Given the description of an element on the screen output the (x, y) to click on. 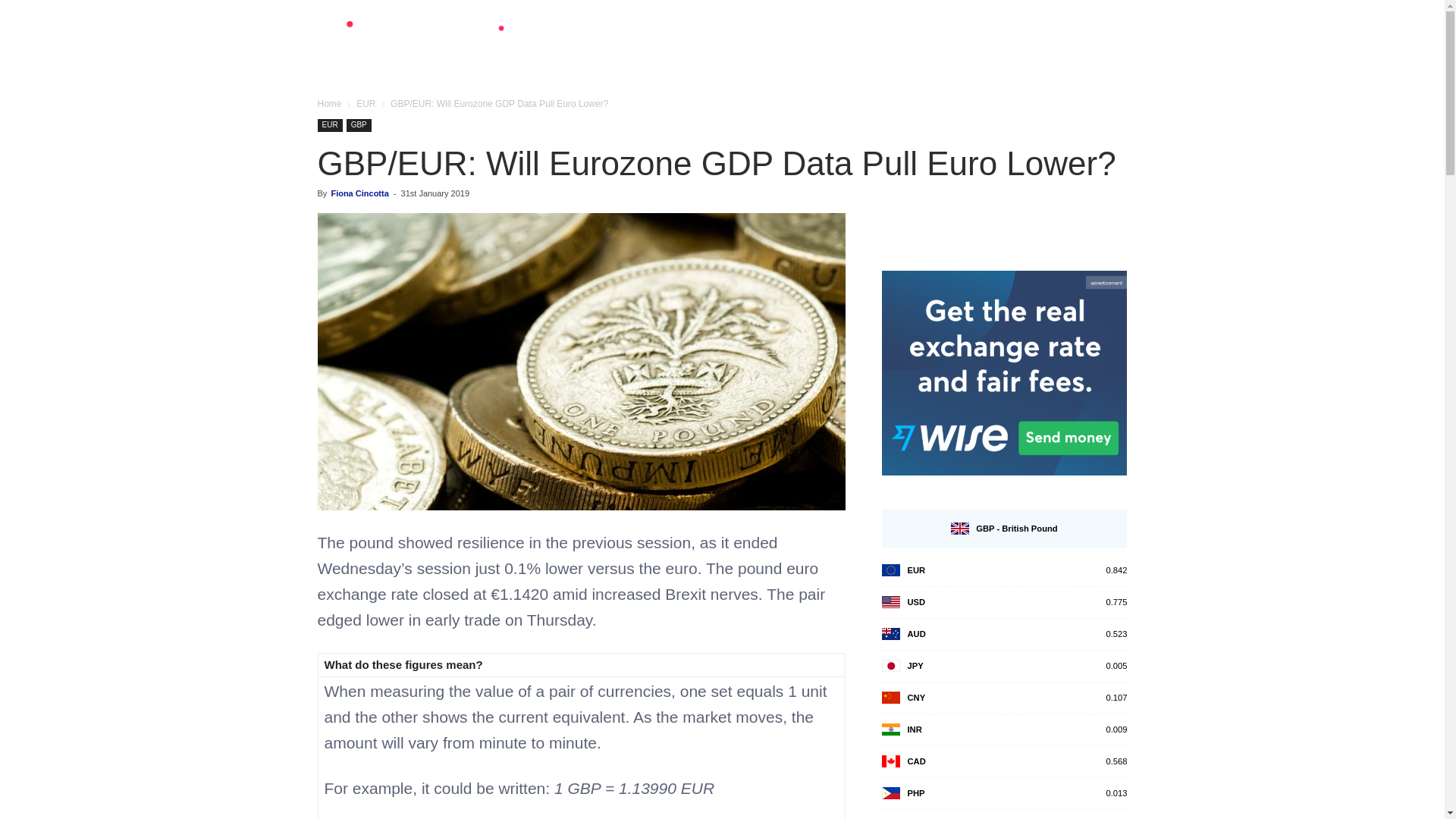
Fiona Cincotta (359, 193)
ABOUT (1061, 50)
Currency Live (426, 39)
EUR (329, 124)
CURRENCY NEWS (965, 50)
View all posts in EUR (365, 103)
EUR (365, 103)
Search (1085, 122)
Home (328, 103)
GBP (358, 124)
CURRENCY CONVERTER (822, 50)
